Given the description of an element on the screen output the (x, y) to click on. 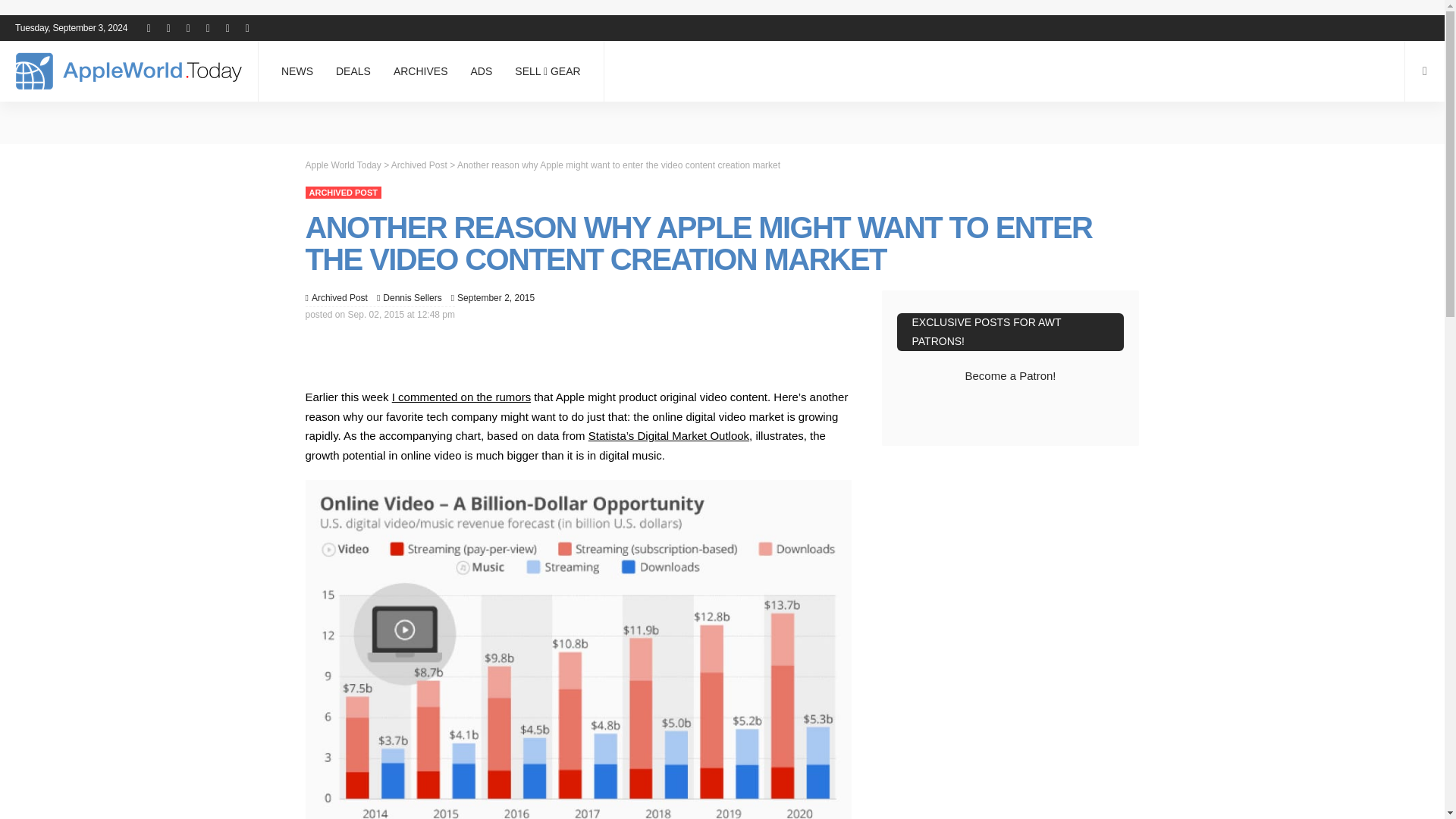
Archived Post (342, 192)
Go to the Archived Post Category archives. (418, 163)
Go to Apple World Today. (342, 163)
Apple World Today (128, 70)
Archived Post (339, 297)
